Given the description of an element on the screen output the (x, y) to click on. 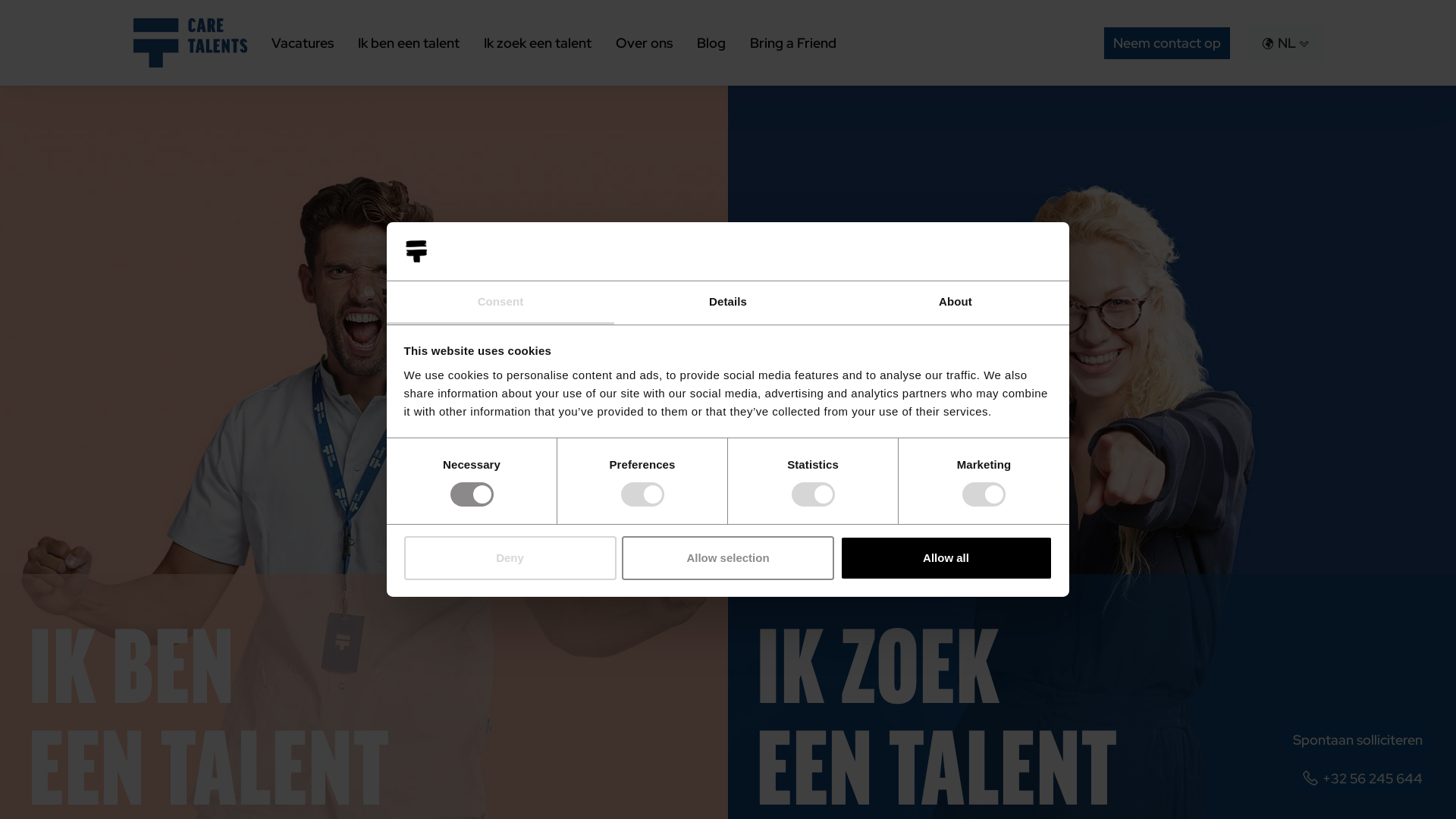
Ik ben een talent Element type: text (408, 42)
Consent Element type: text (500, 302)
Bring a Friend Element type: text (792, 42)
Deny Element type: text (509, 558)
Ik zoek een talent Element type: text (537, 42)
Details Element type: text (727, 302)
About Element type: text (955, 302)
Allow all Element type: text (946, 558)
Spontaan solliciteren Element type: text (1355, 740)
Over ons Element type: text (643, 42)
Allow selection Element type: text (727, 558)
Blog Element type: text (710, 42)
+32 56 245 644 Element type: text (1361, 778)
Neem contact op Element type: text (1167, 43)
Vacatures Element type: text (302, 42)
NL Element type: text (1285, 43)
